Given the description of an element on the screen output the (x, y) to click on. 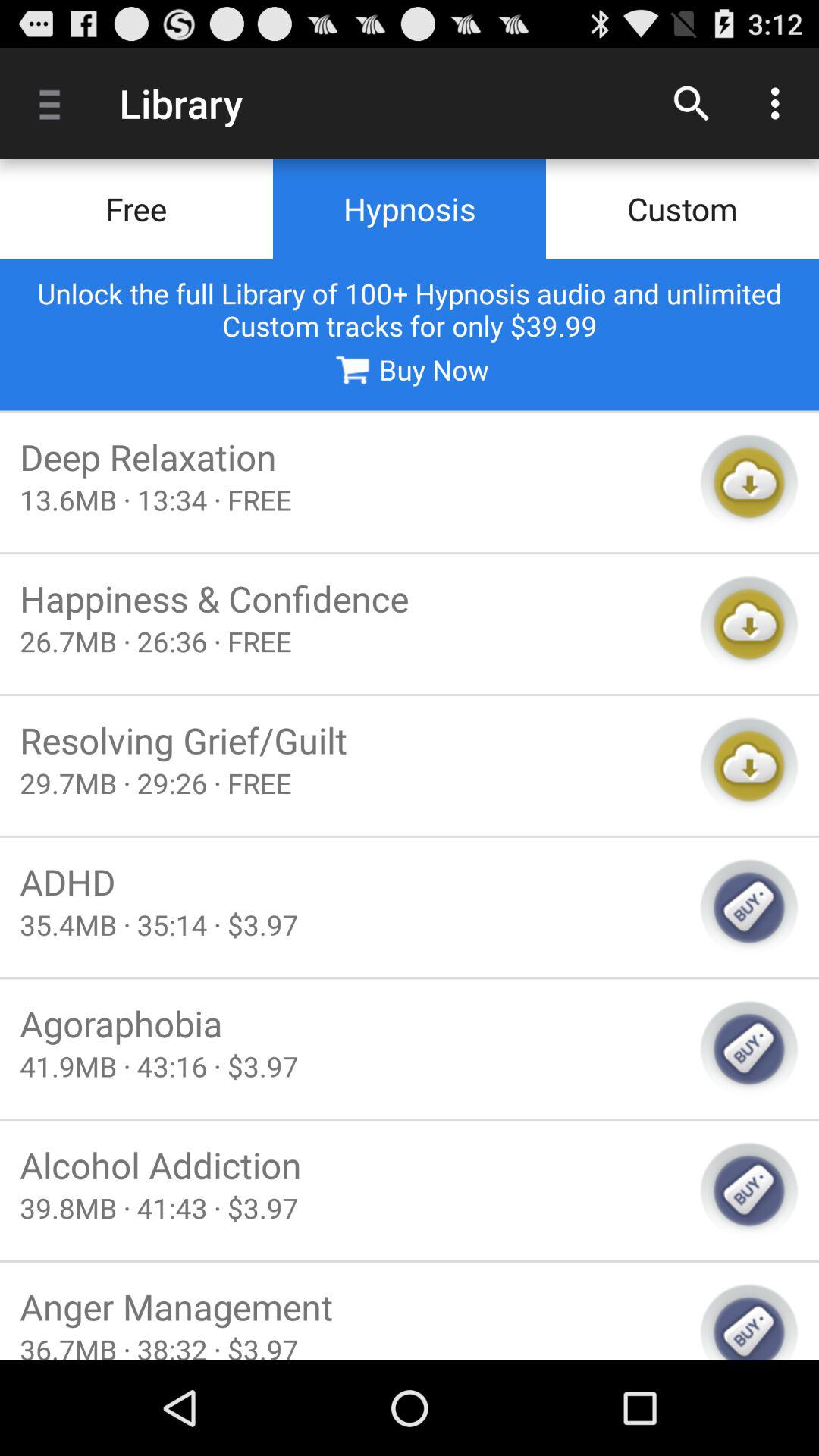
download button (749, 765)
